Given the description of an element on the screen output the (x, y) to click on. 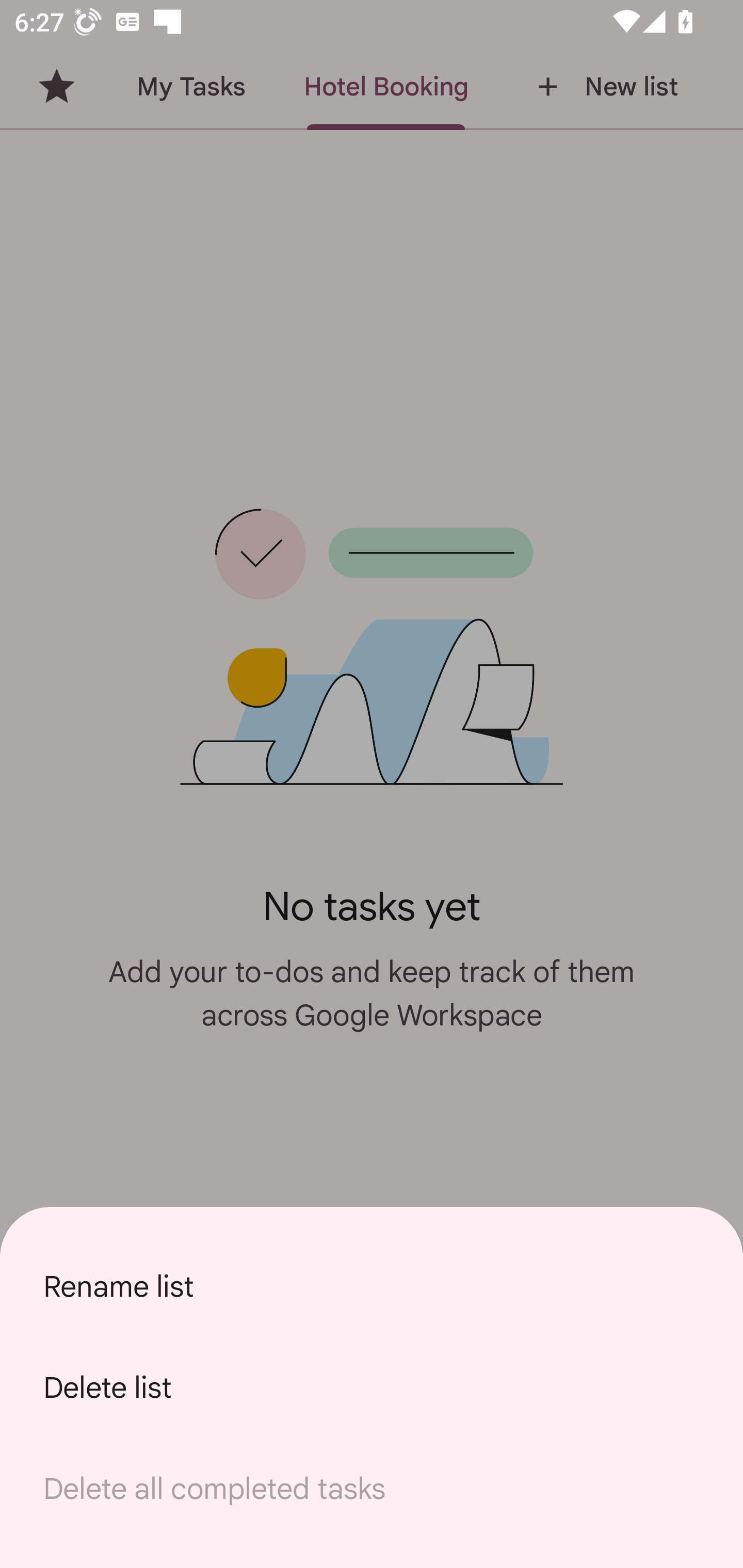
Rename list (371, 1286)
Delete list (371, 1387)
Delete all completed tasks (371, 1488)
